Given the description of an element on the screen output the (x, y) to click on. 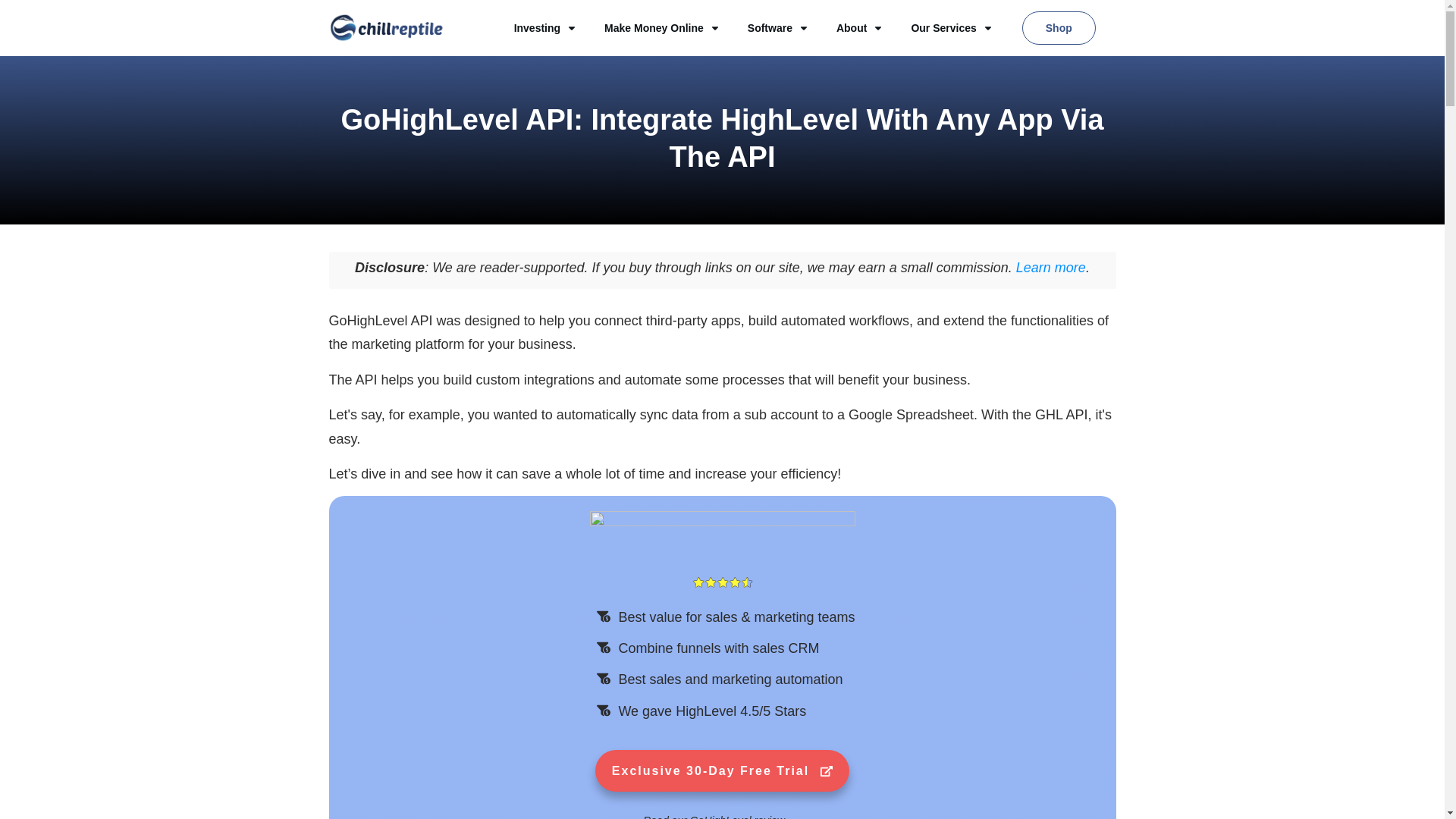
Make Money Online (662, 27)
Make Money Online Articles (662, 27)
ghl blackfriday (721, 770)
About Chill Reptile (859, 27)
Investing (544, 27)
highlevel-logo (722, 540)
